Given the description of an element on the screen output the (x, y) to click on. 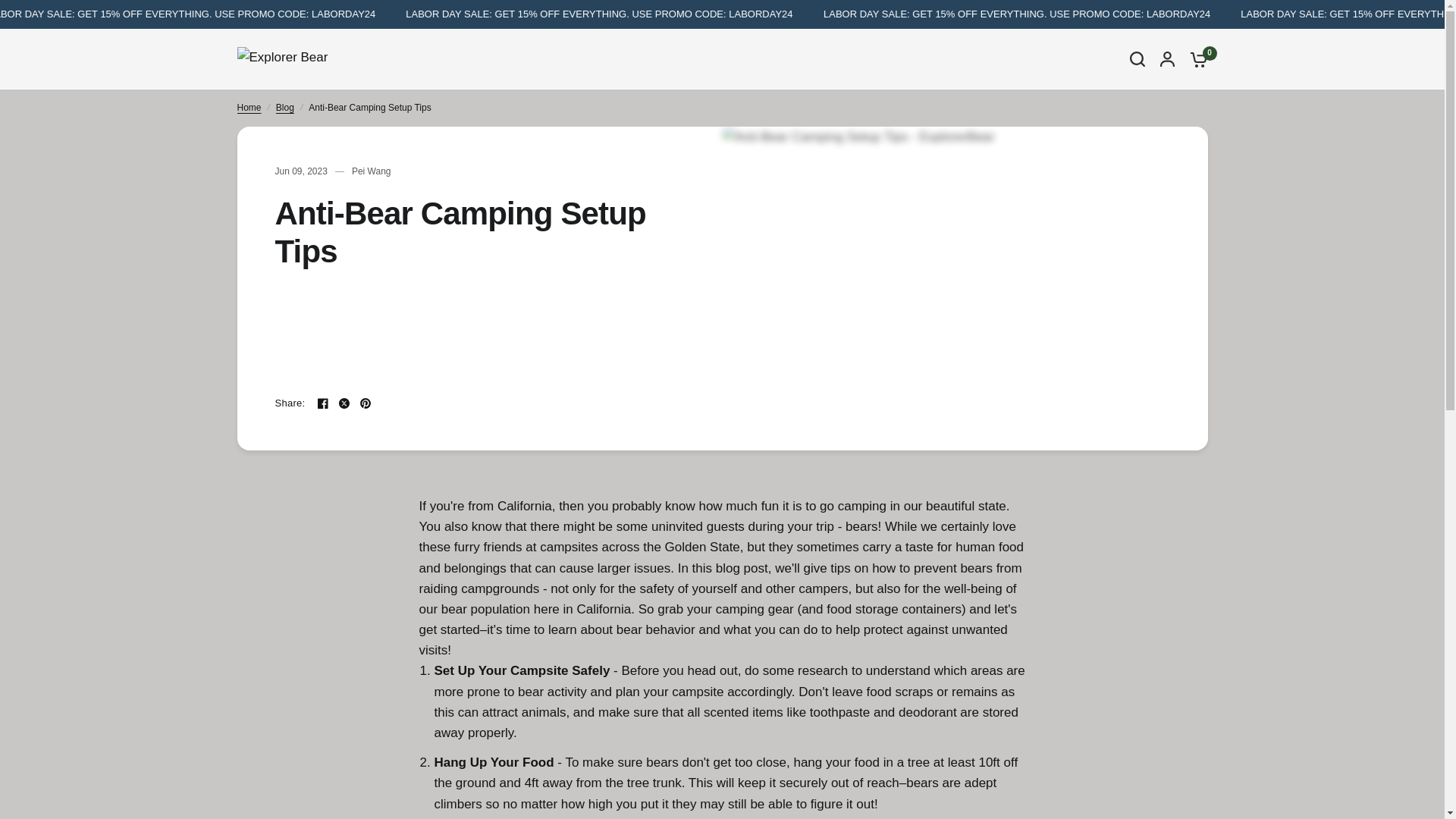
Home (247, 107)
Facebook (1155, 37)
Blog (285, 107)
